Given the description of an element on the screen output the (x, y) to click on. 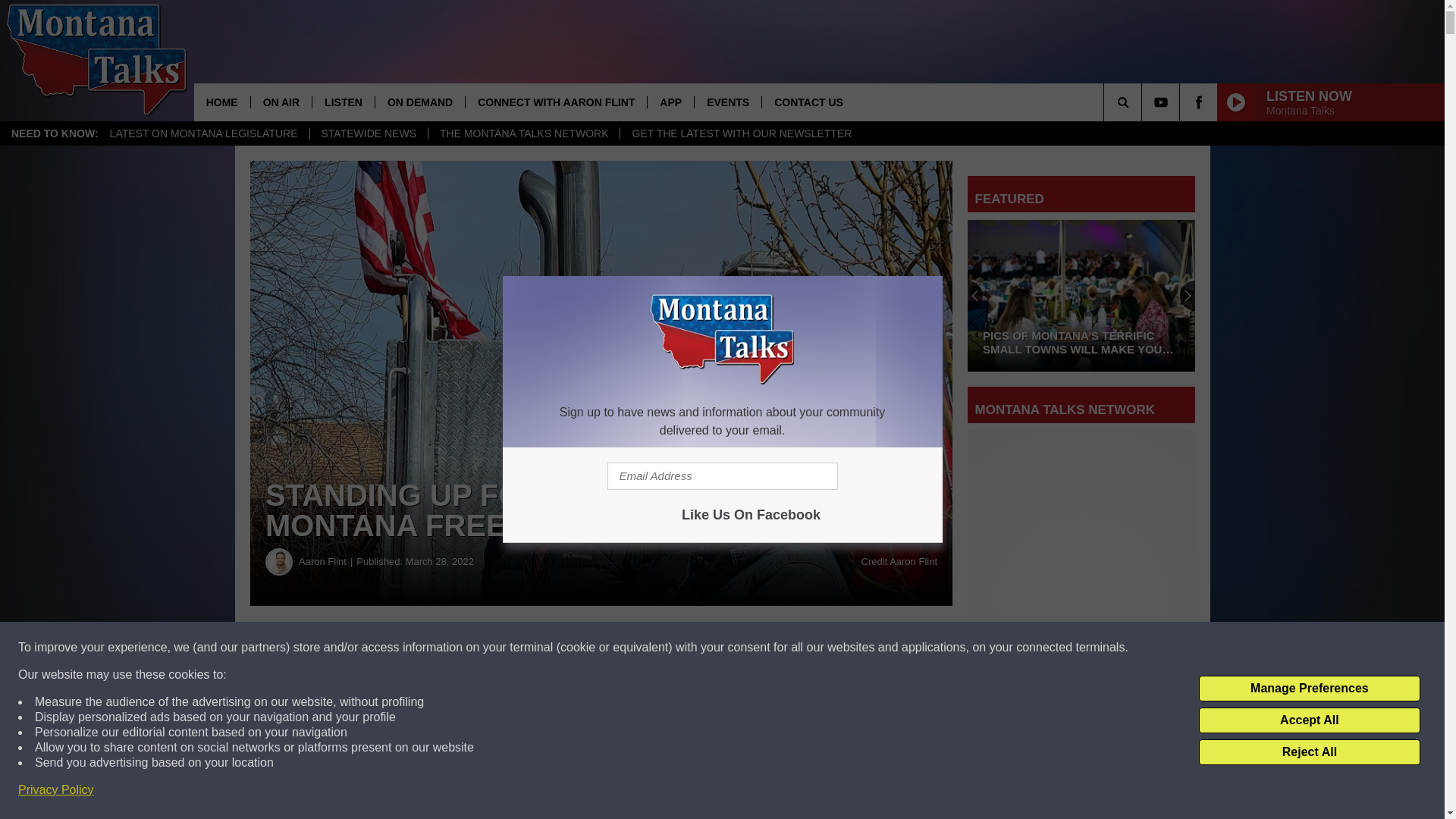
LISTEN (342, 102)
Share on Twitter (741, 647)
CONNECT WITH AARON FLINT (555, 102)
SEARCH (1144, 102)
LATEST ON MONTANA LEGISLATURE (203, 133)
APP (670, 102)
ON AIR (280, 102)
EVENTS (727, 102)
STATEWIDE NEWS (368, 133)
Accept All (1309, 720)
CONTACT US (808, 102)
ON DEMAND (419, 102)
THE MONTANA TALKS NETWORK (524, 133)
HOME (221, 102)
Reject All (1309, 751)
